Given the description of an element on the screen output the (x, y) to click on. 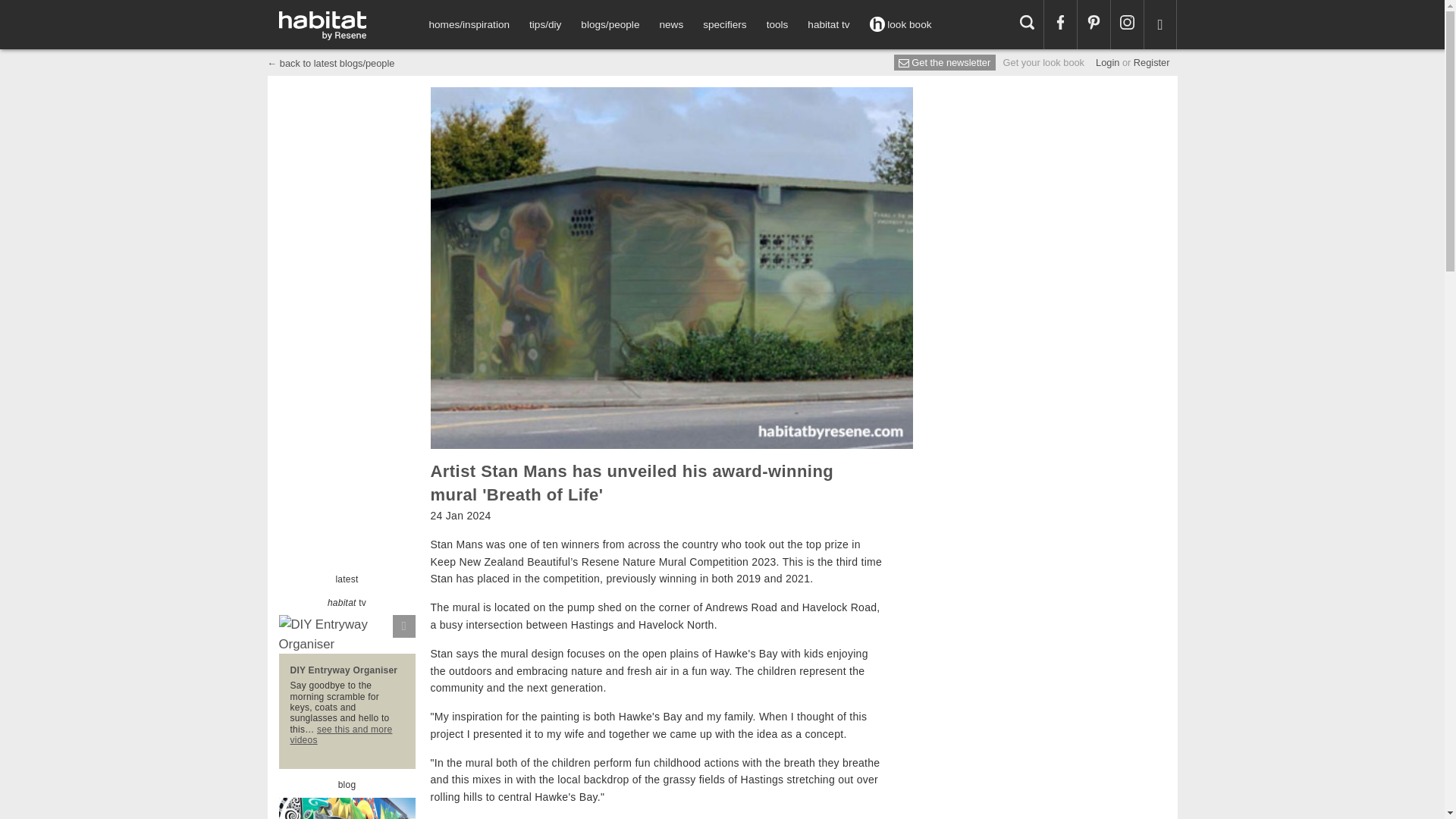
Arrow pointing up (346, 647)
 look book (901, 24)
see this and more videos (340, 734)
specifiers (724, 24)
DIY Entryway Organiser (343, 670)
habitat tv (828, 24)
DIY Entryway Organiser (346, 633)
Register (1152, 61)
Login (1107, 61)
news (671, 24)
